Given the description of an element on the screen output the (x, y) to click on. 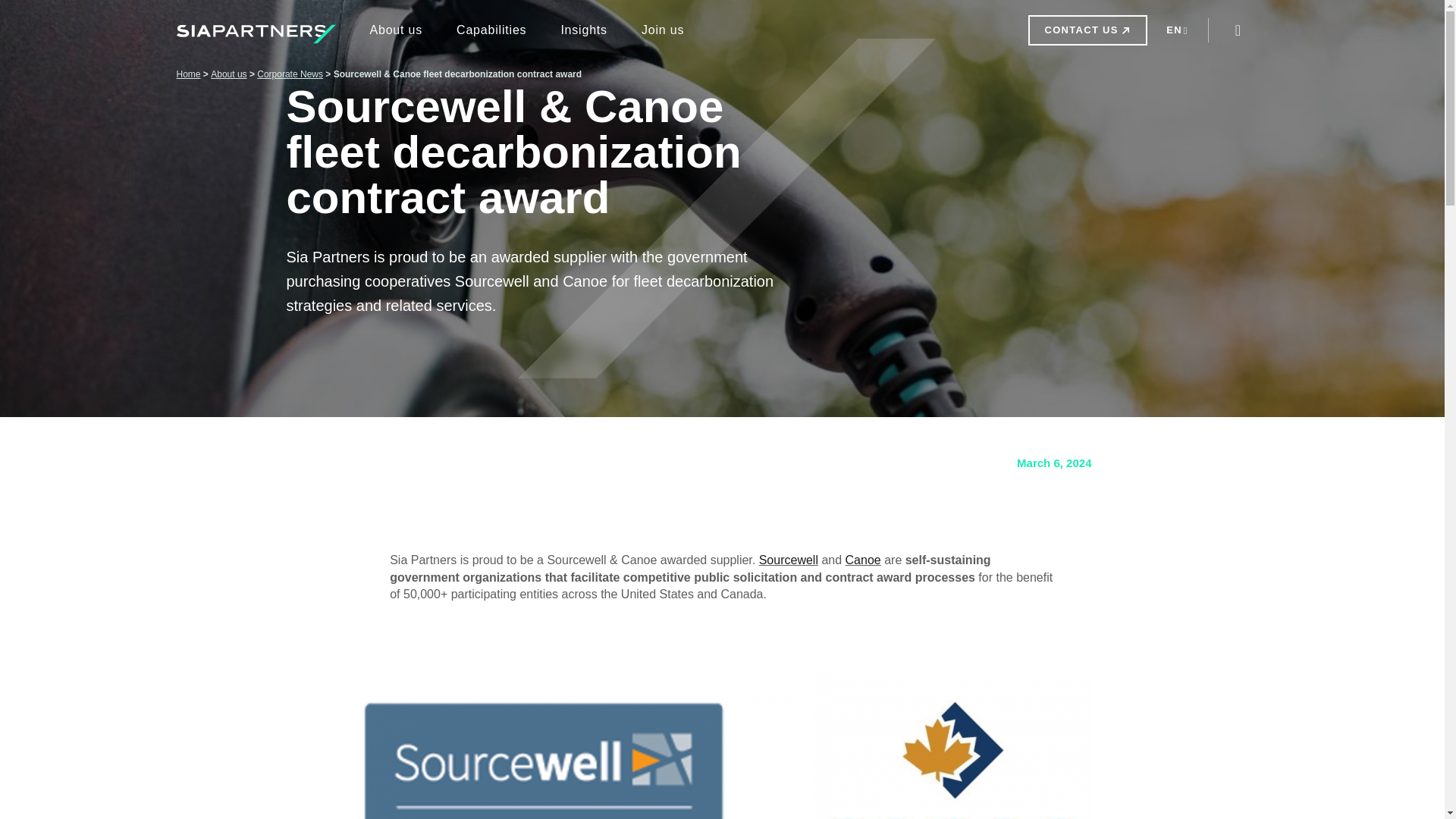
Capabilities (491, 29)
About us (396, 29)
Contact us (1087, 30)
